Given the description of an element on the screen output the (x, y) to click on. 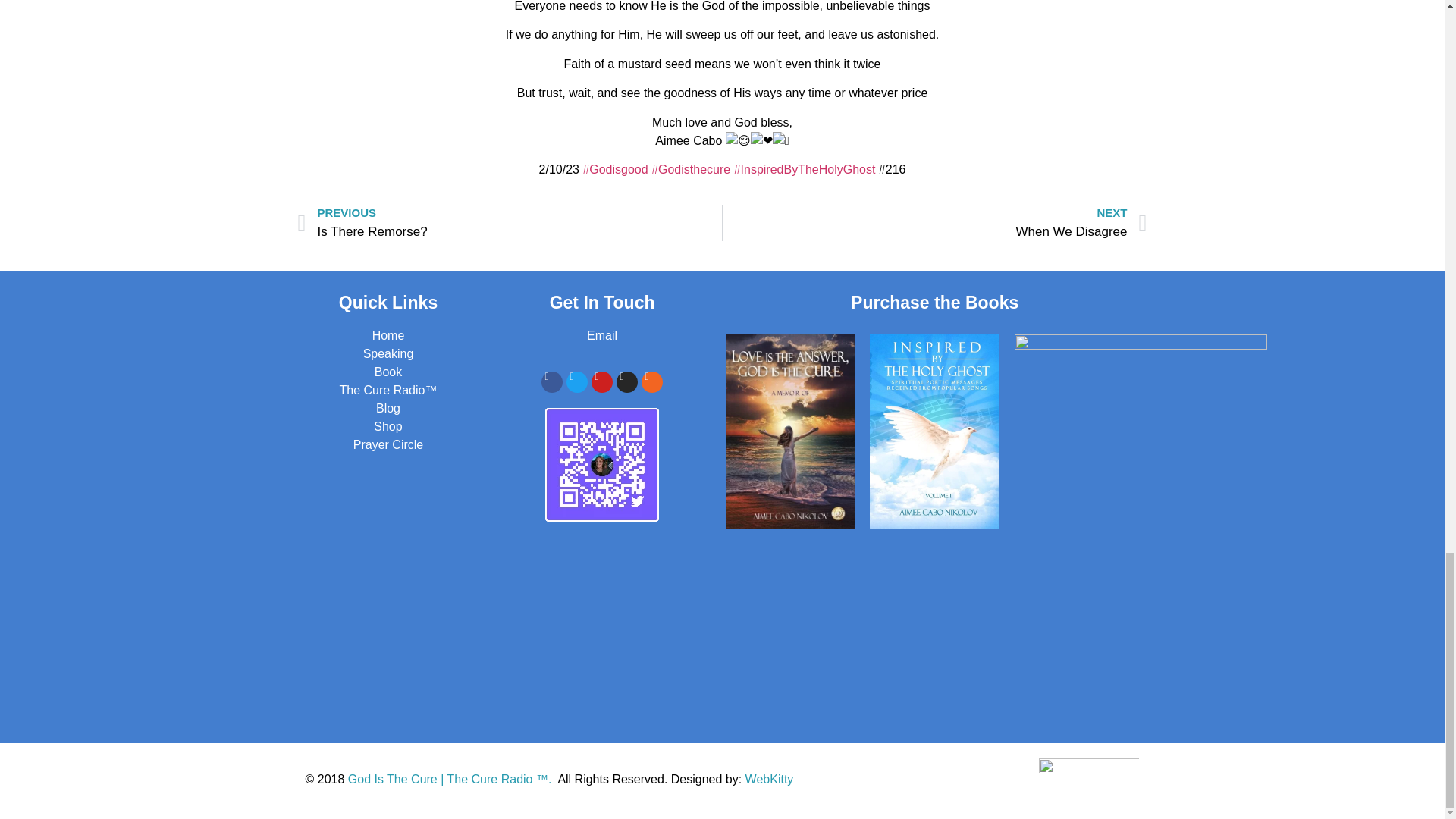
Home (388, 335)
